Given the description of an element on the screen output the (x, y) to click on. 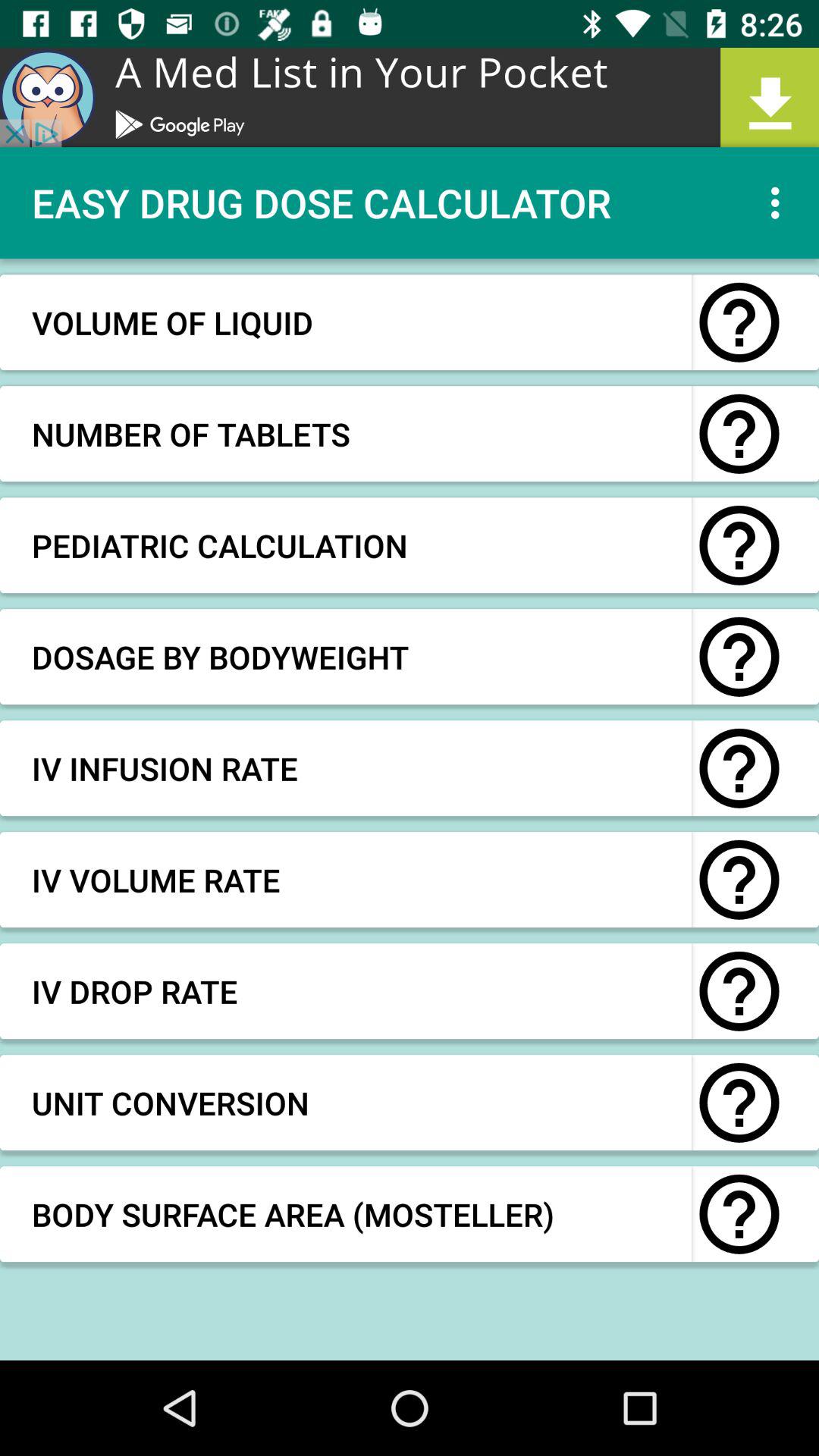
details of unit conversion (739, 1102)
